Given the description of an element on the screen output the (x, y) to click on. 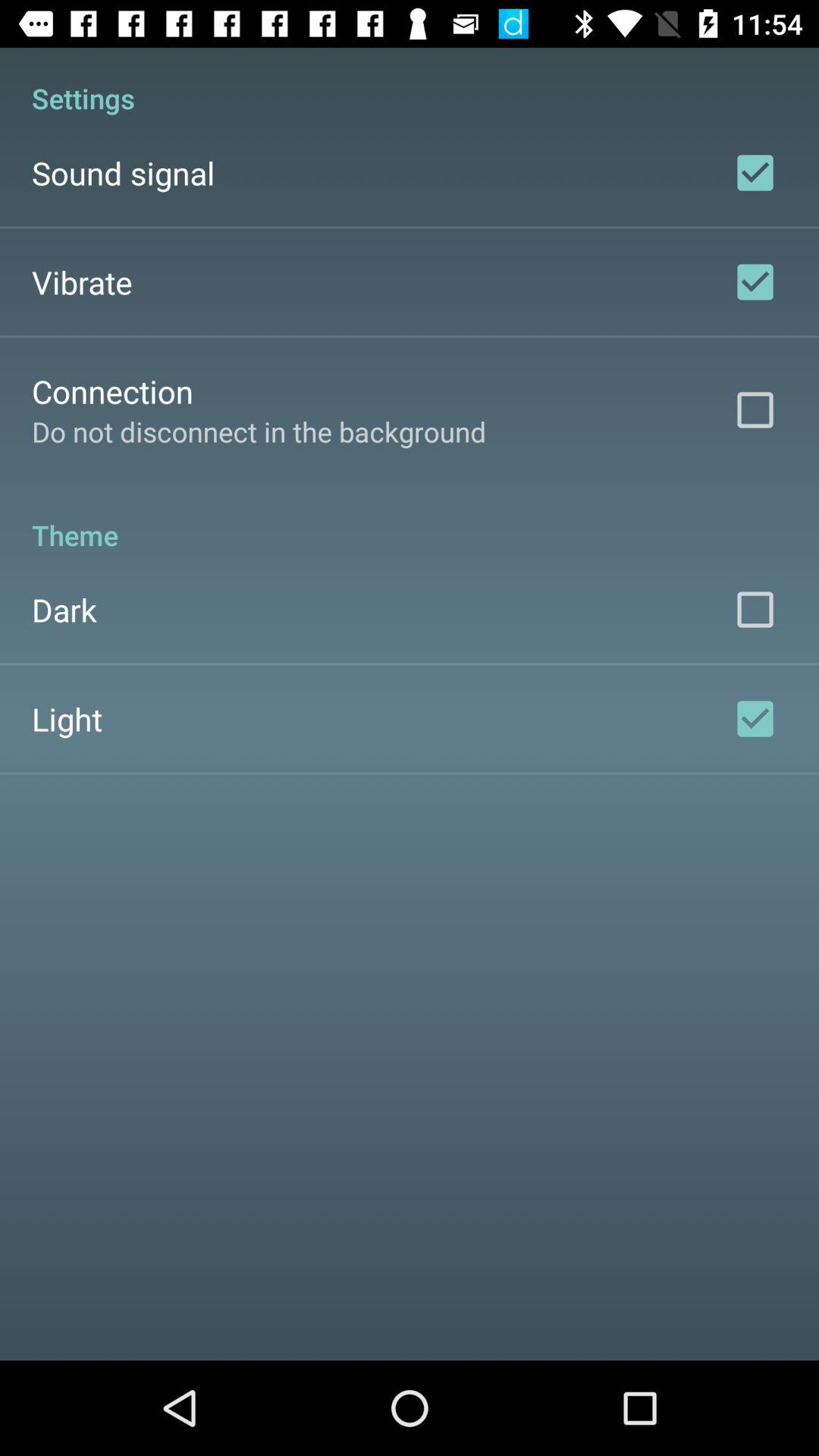
tap vibrate item (81, 281)
